Given the description of an element on the screen output the (x, y) to click on. 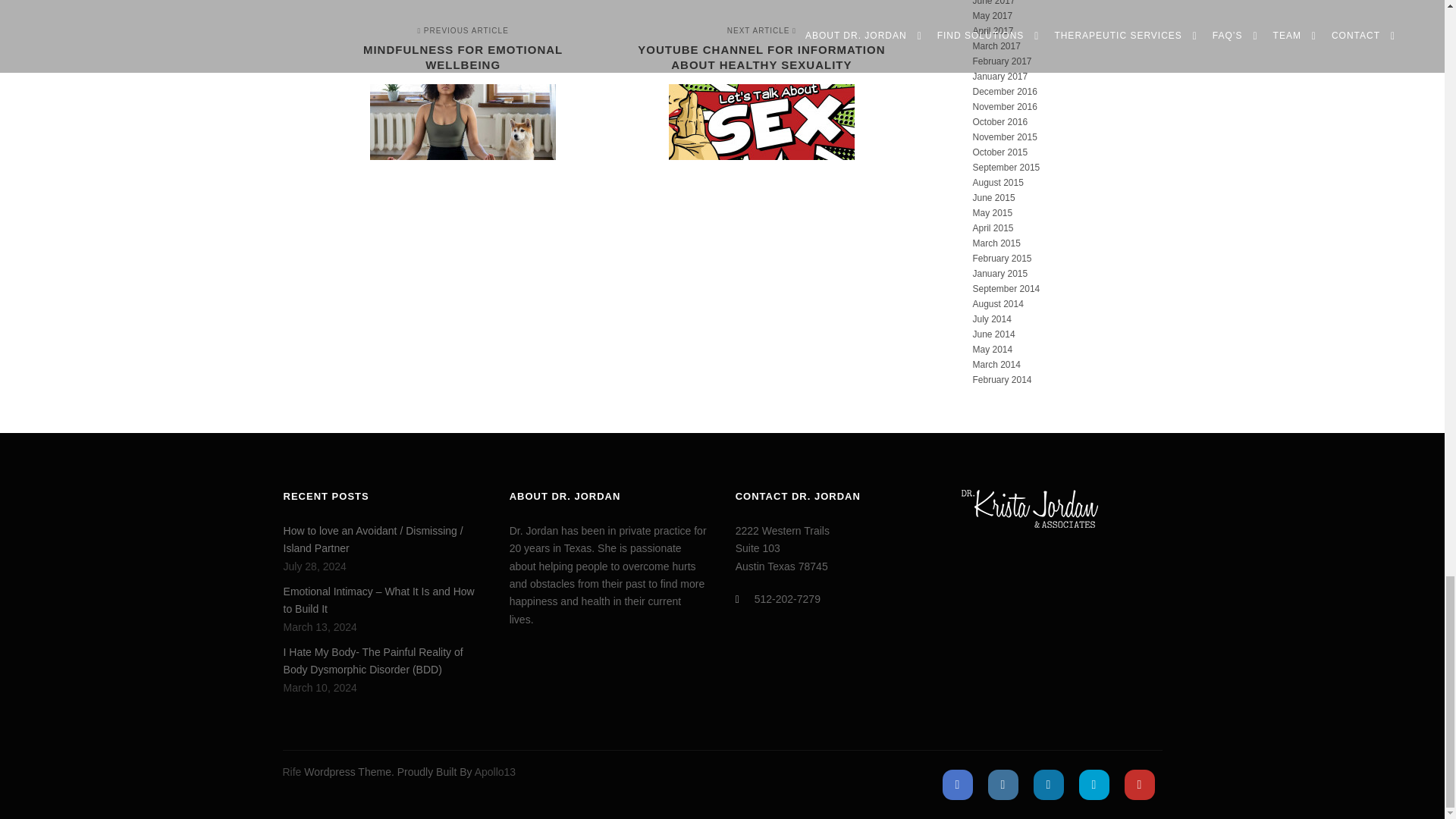
Linkedin (1047, 784)
Instagram (1002, 784)
Facebook (469, 94)
